Given the description of an element on the screen output the (x, y) to click on. 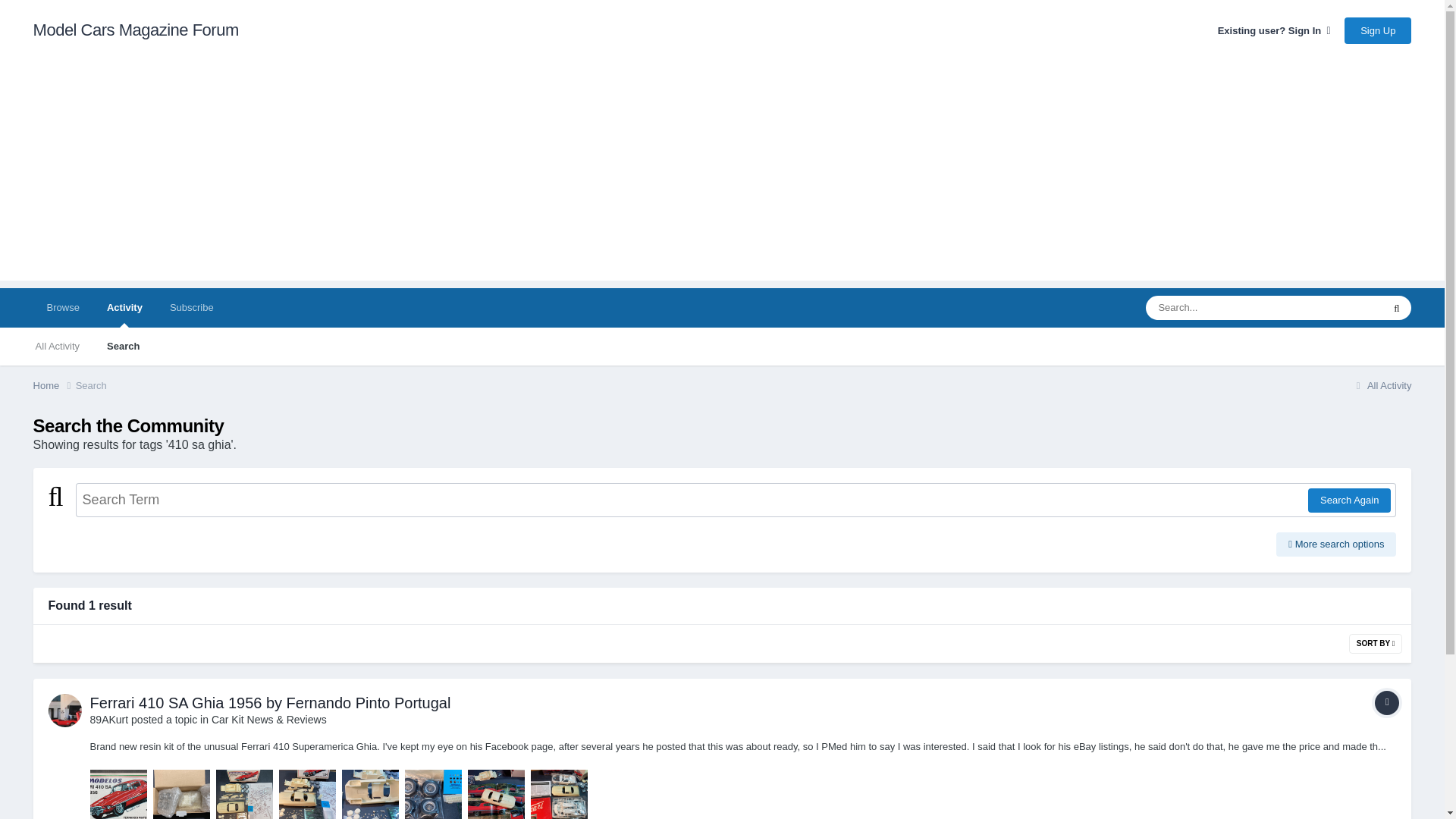
Search (122, 346)
More search options (1336, 544)
All Activity (1380, 385)
Existing user? Sign In   (1273, 30)
Search Again (1348, 500)
Model Cars Magazine Forum (135, 30)
Sign Up (1376, 29)
Activity (124, 307)
All Activity (57, 346)
Home (54, 385)
Home (54, 385)
Browse (63, 307)
Go to 89AKurt's profile (64, 710)
Search (90, 385)
